Given the description of an element on the screen output the (x, y) to click on. 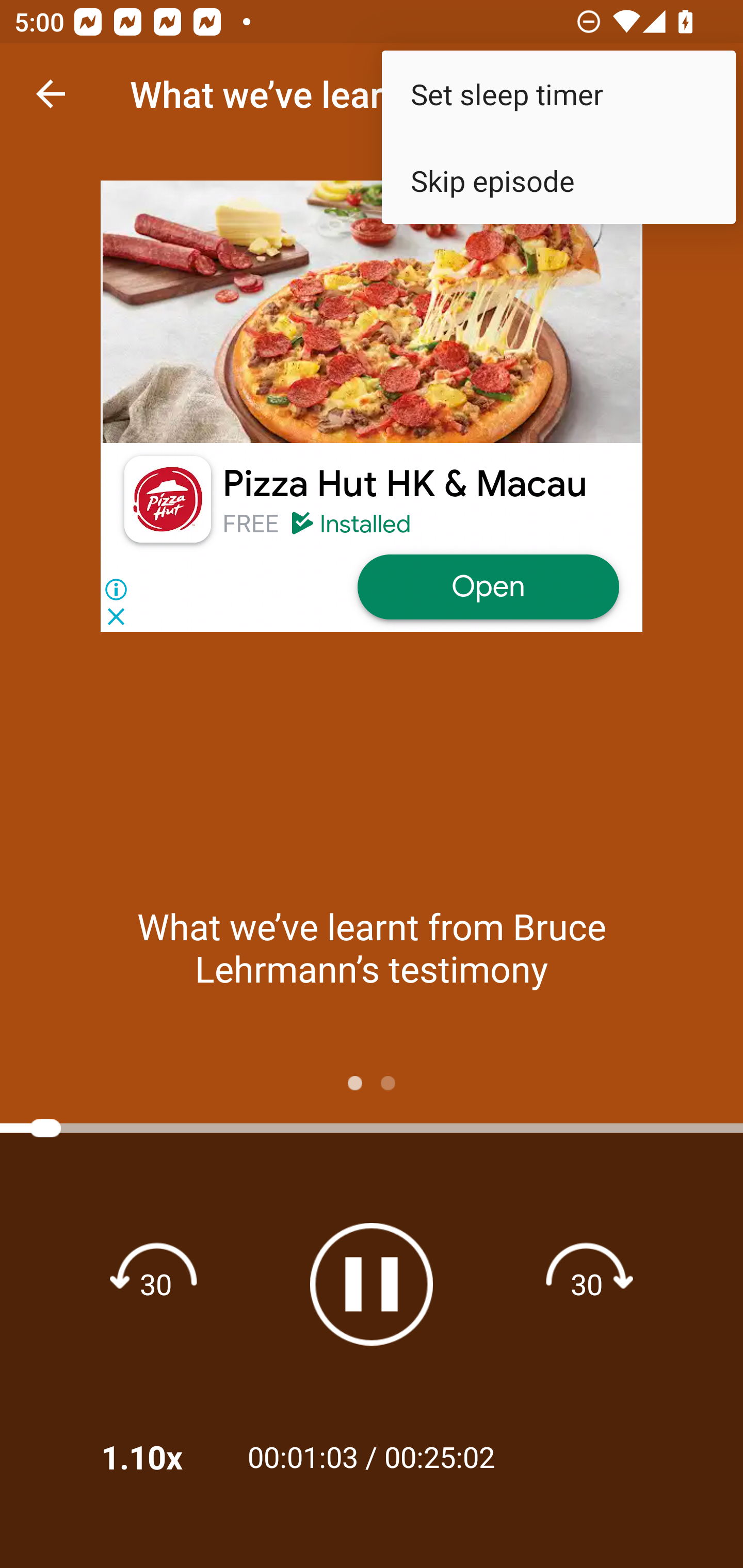
Set sleep timer (558, 93)
Skip episode (558, 180)
